Given the description of an element on the screen output the (x, y) to click on. 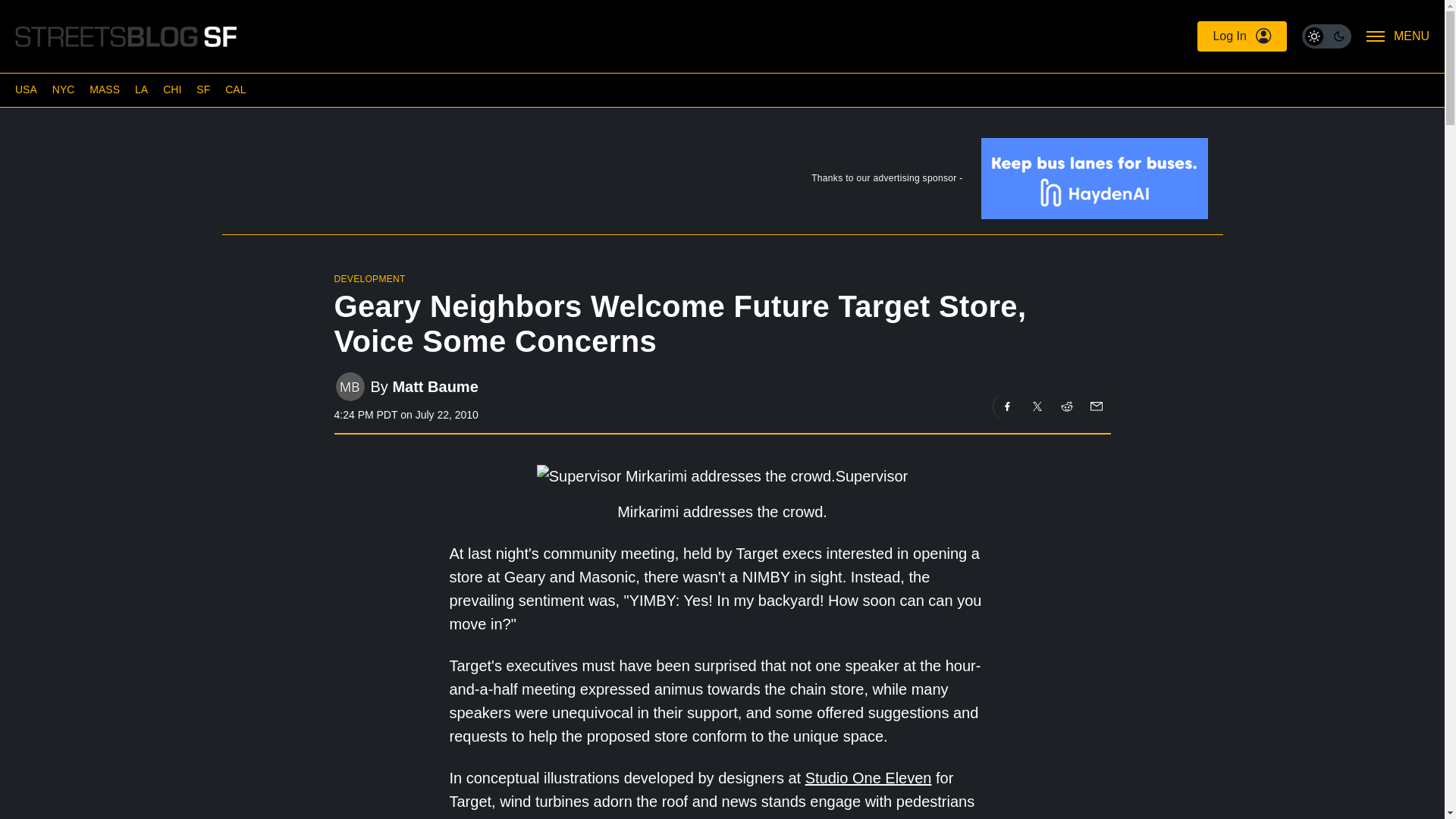
MASS (103, 89)
CAL (235, 89)
Share on Facebook (1007, 406)
DEVELOPMENT (368, 278)
LA (141, 89)
NYC (63, 89)
Share on Reddit (1066, 406)
MENU (1398, 36)
Thanks to our advertising sponsor - (721, 181)
CHI (171, 89)
USA (25, 89)
Matt Baume (434, 386)
Studio One Eleven (868, 777)
Log In (1240, 36)
Share on Email (1095, 406)
